Given the description of an element on the screen output the (x, y) to click on. 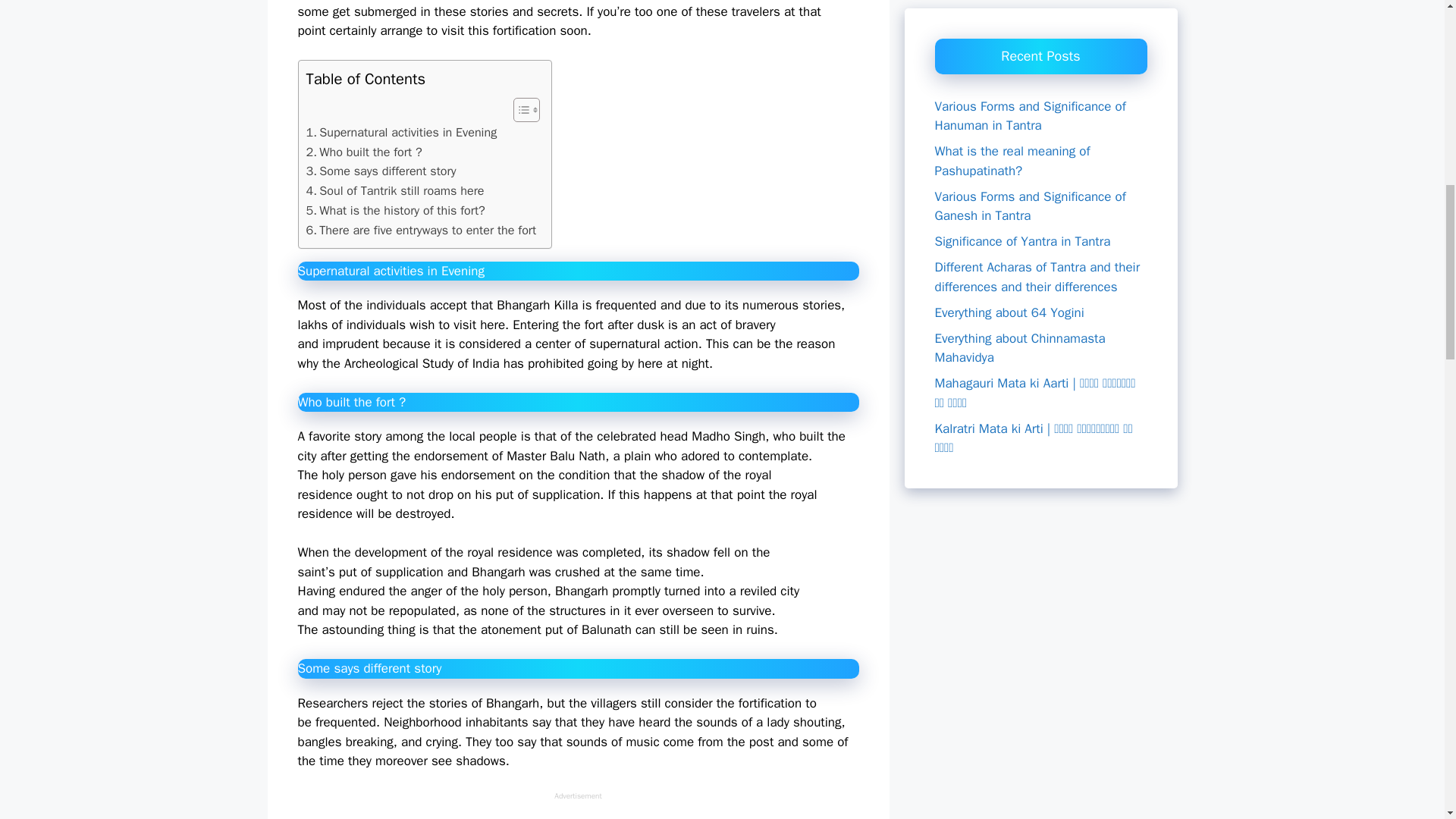
Soul of Tantrik still roams here (394, 190)
What is the history of this fort? (394, 210)
Some says different story (381, 170)
What is the history of this fort? (394, 210)
Who built the fort ? (363, 152)
Some says different story  (381, 170)
Who built the fort ?  (363, 152)
Supernatural activities in Evening  (401, 132)
There are five entryways to enter the fort (421, 230)
Soul of Tantrik still roams here (394, 190)
Supernatural activities in Evening (401, 132)
Scroll back to top (1406, 720)
